Given the description of an element on the screen output the (x, y) to click on. 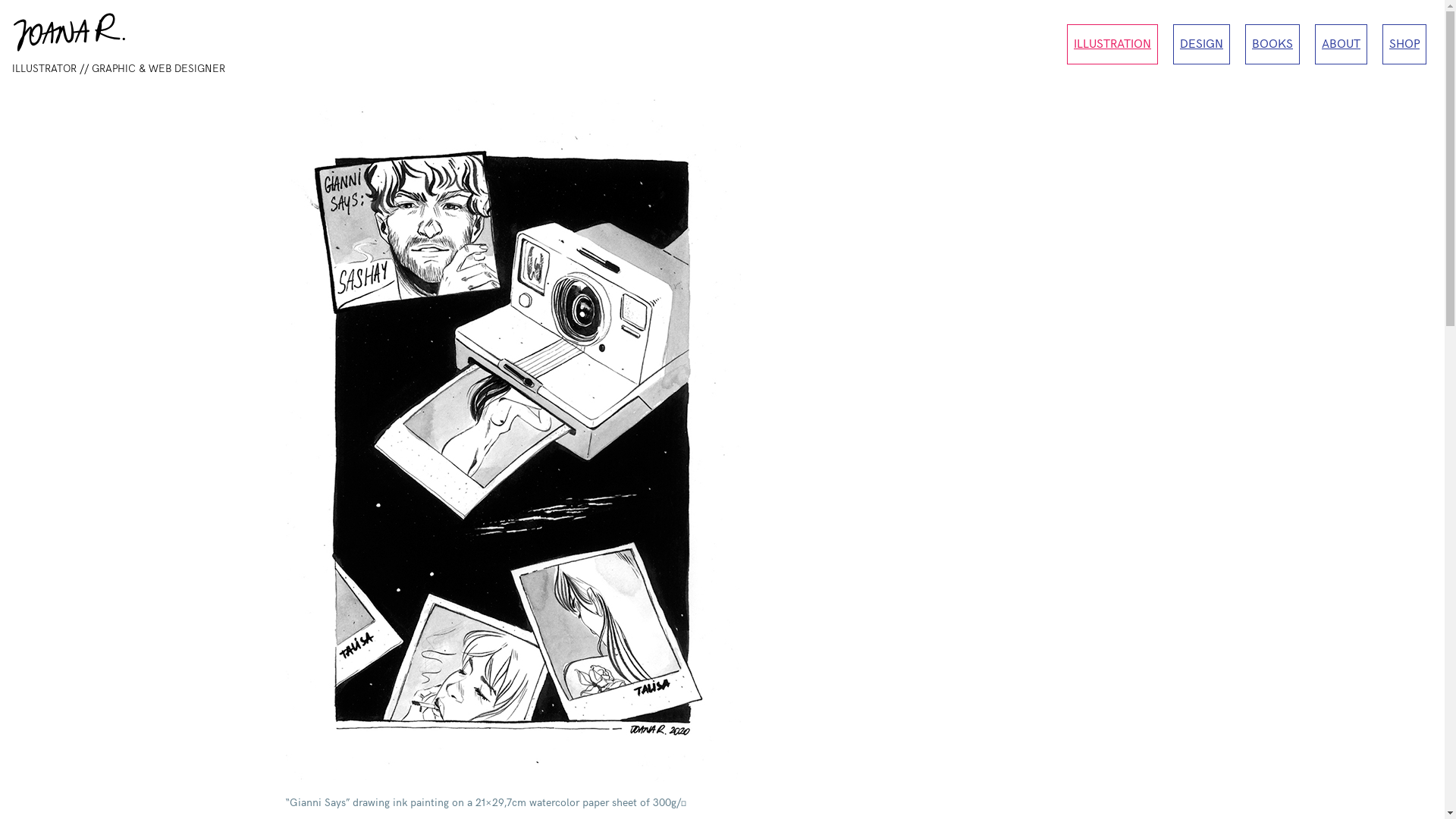
SHOP Element type: text (1404, 44)
DESIGN Element type: text (1201, 44)
BOOKS Element type: text (1272, 44)
ABOUT Element type: text (1340, 44)
ILLUSTRATION Element type: text (1111, 44)
